Given the description of an element on the screen output the (x, y) to click on. 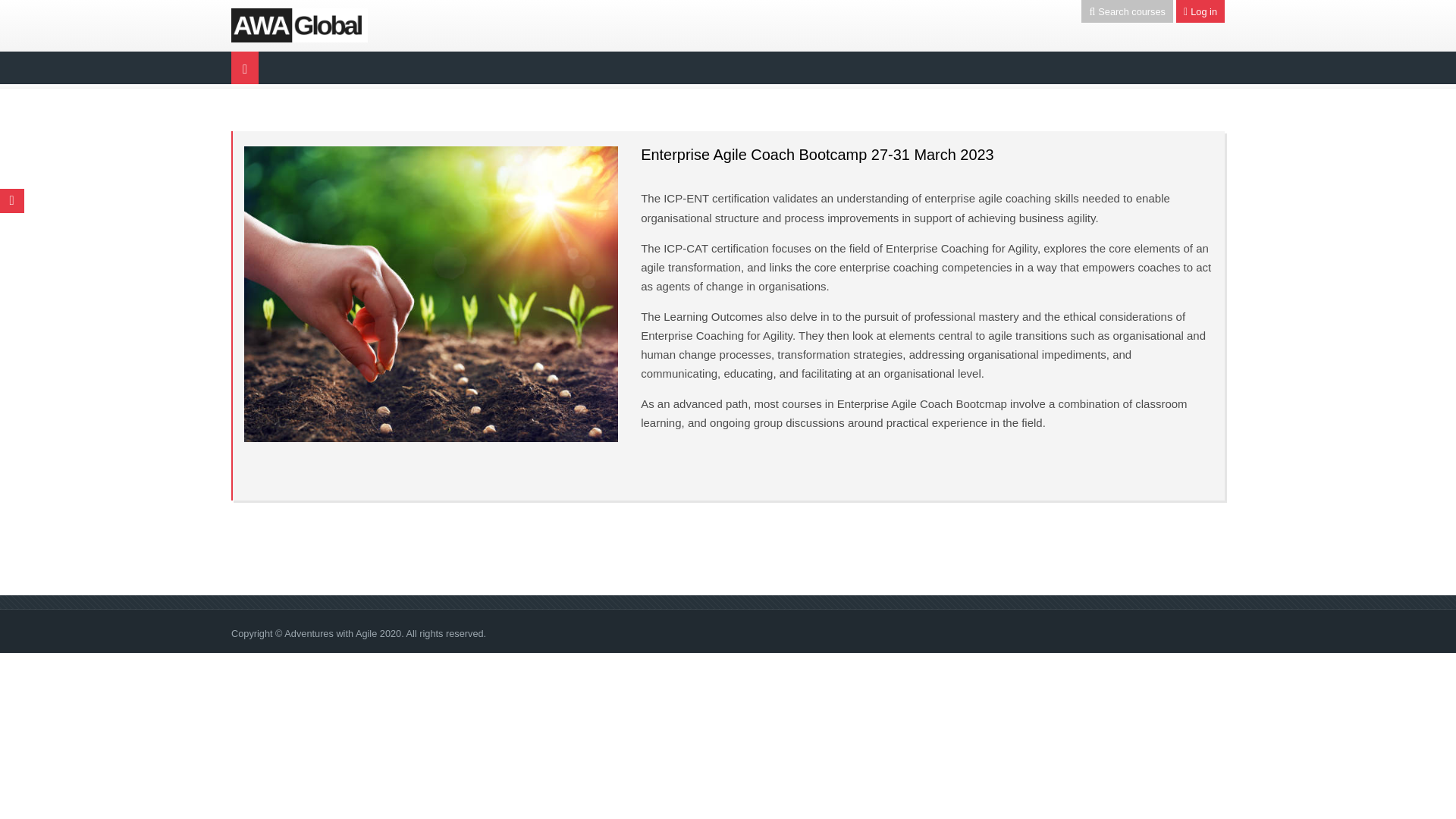
Enterprise Agile Coach Bootcamp 27-31 March 2023 (816, 154)
Search courses (1127, 11)
AWA Learning platform (299, 23)
Search courses (1127, 11)
Log in (1200, 11)
Log in (1200, 11)
